Given the description of an element on the screen output the (x, y) to click on. 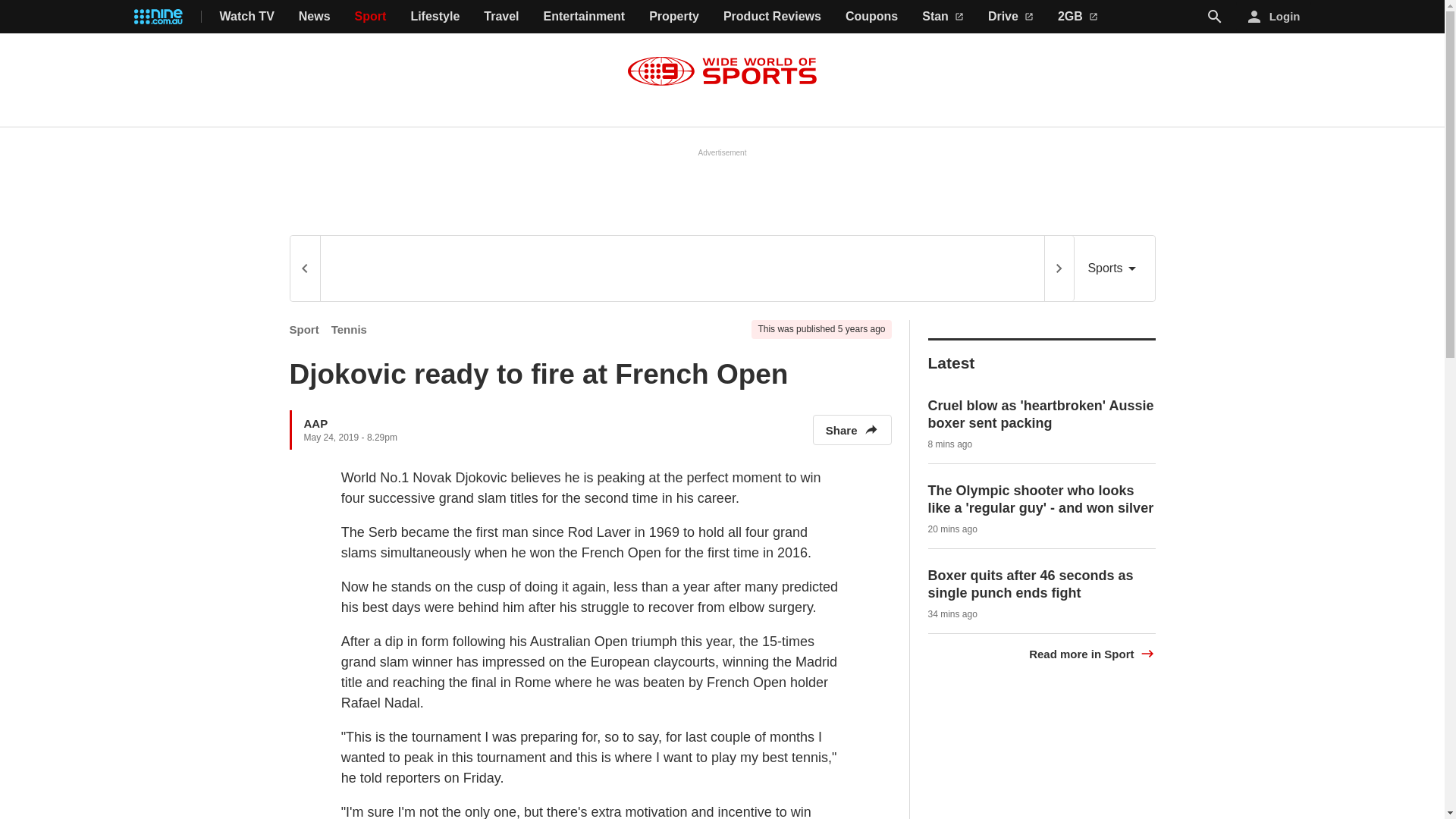
Stan (942, 16)
Tennis (348, 328)
Product Reviews (772, 16)
Drive (1010, 16)
Entertainment (584, 16)
Share (851, 429)
Sports (1114, 268)
Travel (500, 16)
Lifestyle (435, 16)
Coupons (871, 16)
Read more in Sport (1091, 653)
Property (673, 16)
Cruel blow as 'heartbroken' Aussie boxer sent packing (1041, 414)
Login (1273, 16)
